Given the description of an element on the screen output the (x, y) to click on. 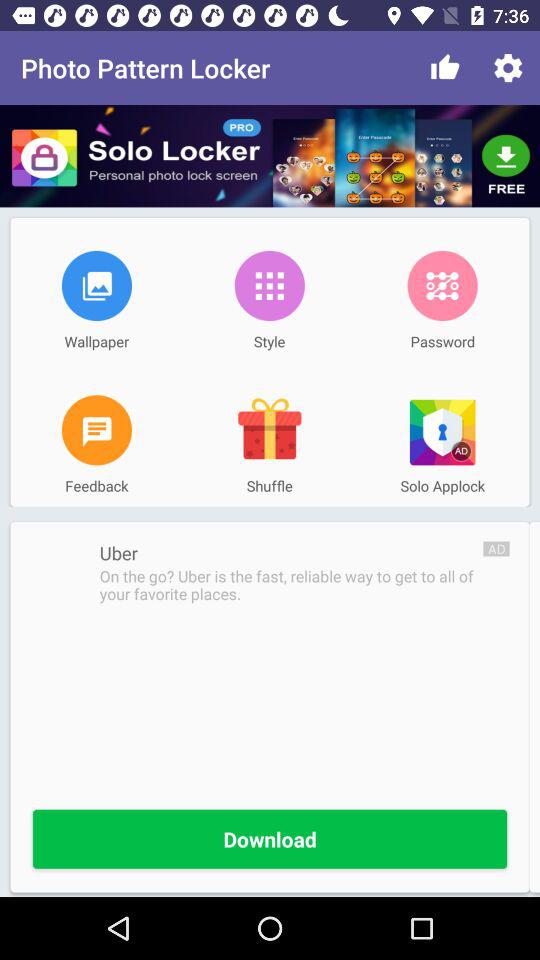
choose item to the right of wallpaper icon (269, 285)
